Given the description of an element on the screen output the (x, y) to click on. 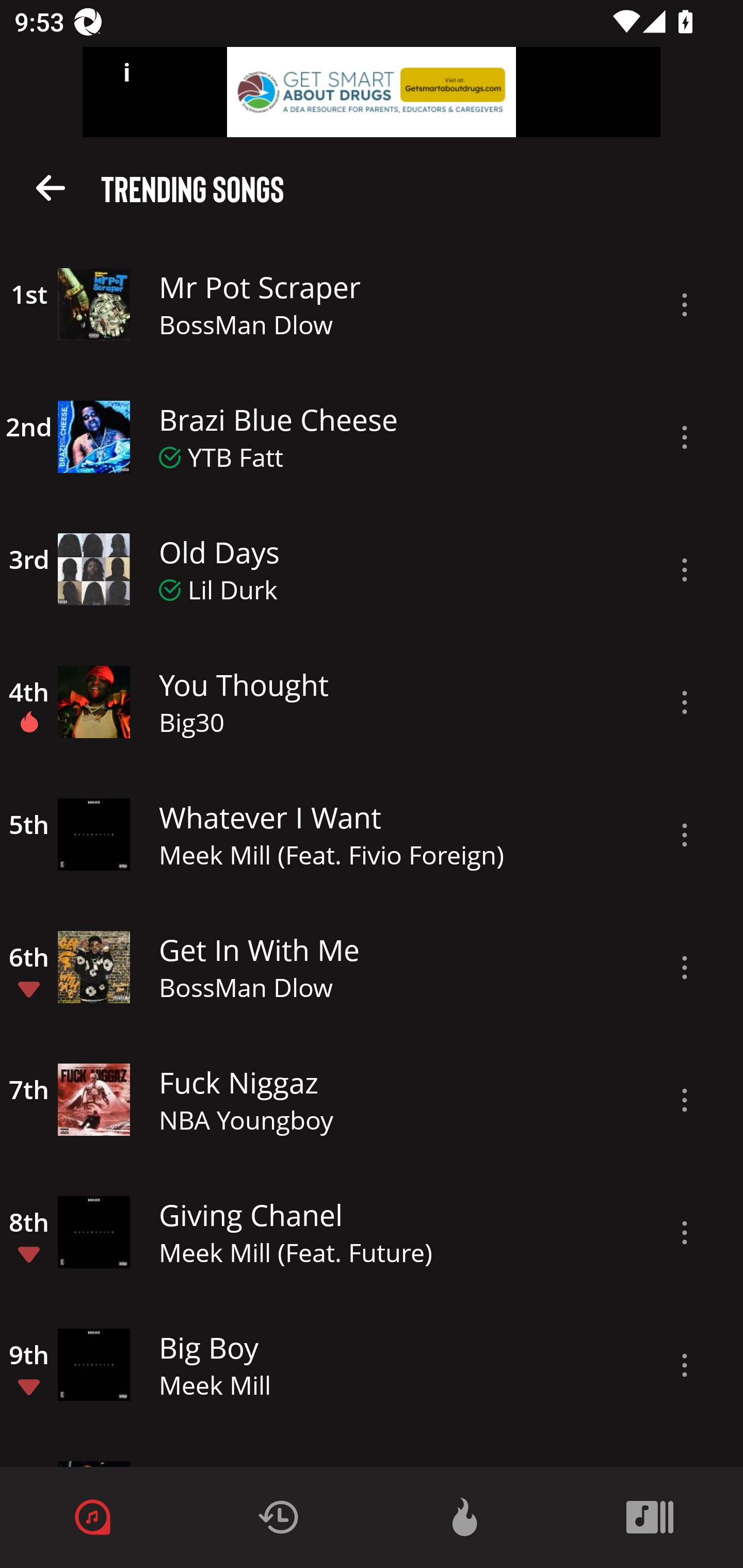
Description (685, 304)
Description (685, 437)
Description (685, 569)
Description (685, 702)
Description (685, 834)
Description (685, 968)
Description (685, 1099)
Description (685, 1233)
Description (685, 1364)
